Given the description of an element on the screen output the (x, y) to click on. 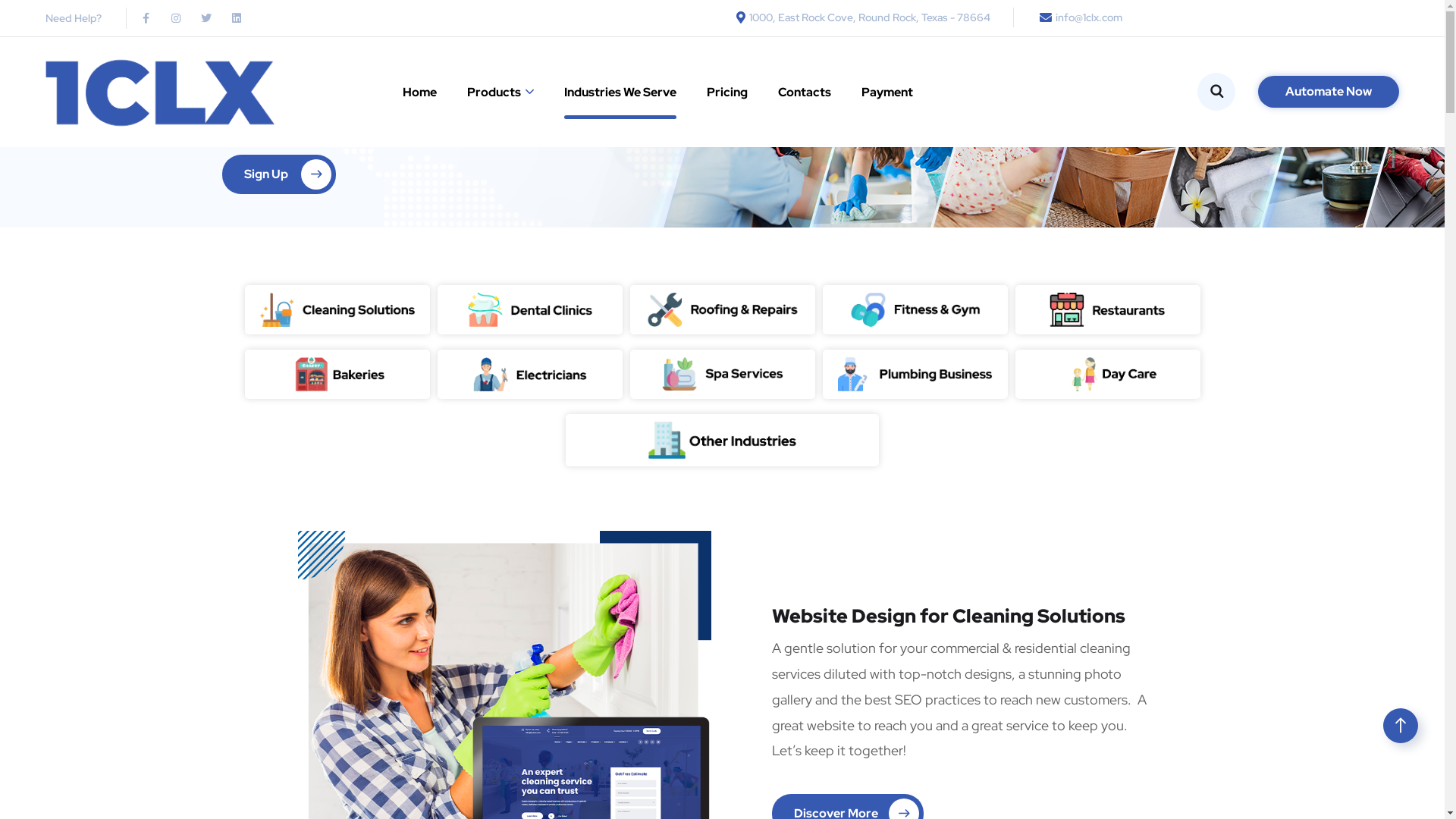
Website Design For Plumbing Business Element type: hover (914, 374)
Industries We Serve Element type: text (620, 91)
info@1clx.com Element type: text (1078, 17)
Website Design For Cleaning Solutions Element type: hover (336, 309)
Pricing Element type: text (726, 91)
Need Help? Element type: text (73, 18)
Home Element type: text (419, 91)
Website Design For Day Care Element type: hover (1106, 374)
Contacts Element type: text (804, 91)
Payment Element type: text (887, 91)
Website Design For Roofing Element type: hover (721, 309)
Website Design For Other Industries Element type: hover (721, 439)
Website Design For Bakeries Element type: hover (336, 374)
Website Design For Dental Clinic Element type: hover (528, 309)
Sign Up Element type: text (278, 174)
Products Element type: text (500, 91)
1clx Logo Element type: hover (159, 92)
1000, East Rock Cove, Round Rock, Texas - 78664 Element type: text (859, 17)
Website Design For Electricians Element type: hover (528, 374)
Website Design For Fitness Element type: hover (914, 309)
Automate Now Element type: text (1328, 91)
Website Design For Spa Services Element type: hover (721, 373)
Website Design For Restaurants Element type: hover (1106, 309)
